Given the description of an element on the screen output the (x, y) to click on. 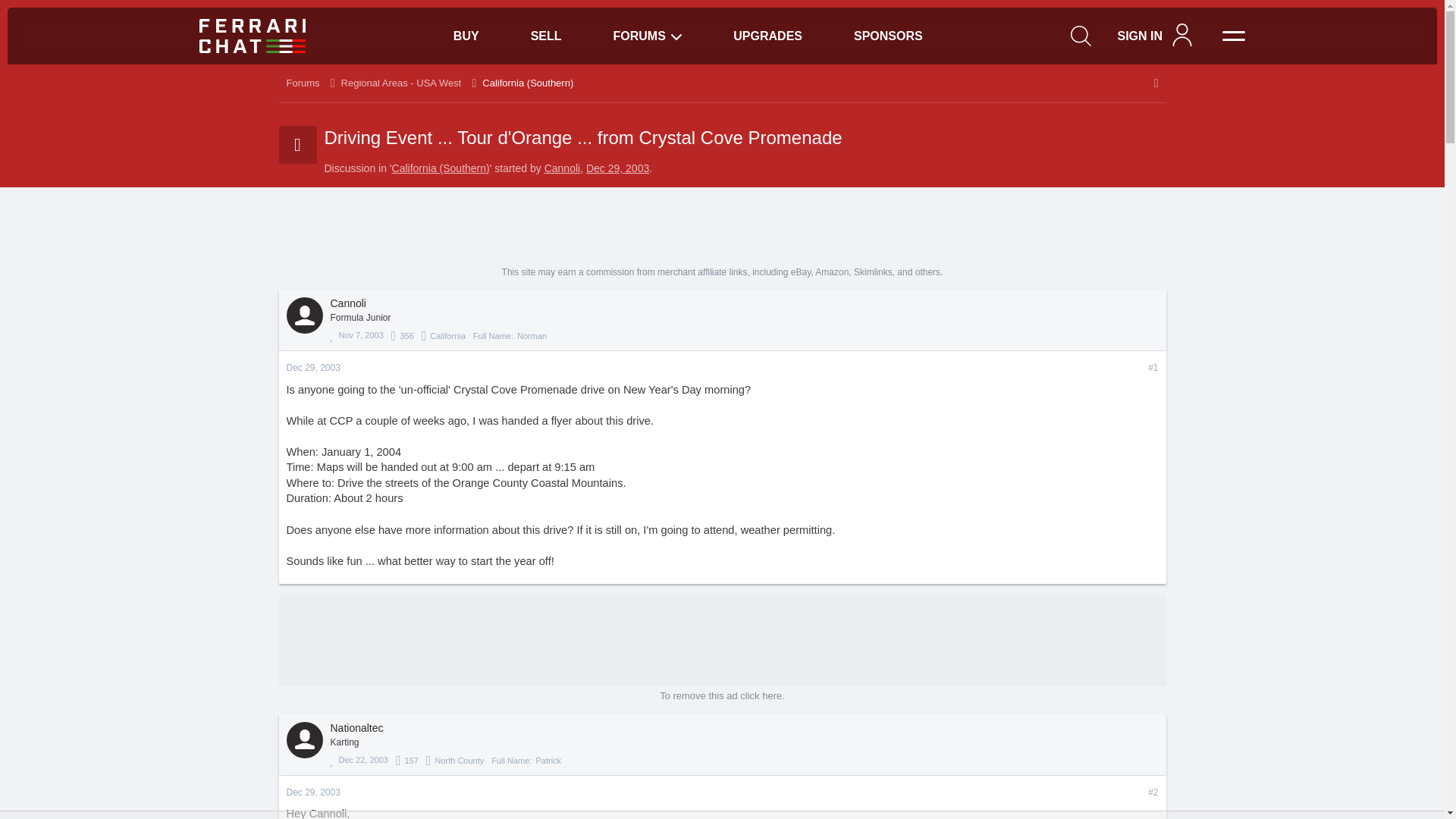
Permalink (1152, 367)
Open quick navigation (1156, 83)
SPONSORS (888, 35)
UPGRADES (767, 35)
Permalink (1152, 792)
Permalink (313, 367)
Dec 29, 2003 at 4:40 PM (617, 168)
BUY (466, 35)
FORUMS (647, 35)
Permalink (313, 792)
SELL (546, 35)
SIGN IN (1138, 36)
3rd party ad content (721, 232)
